Given the description of an element on the screen output the (x, y) to click on. 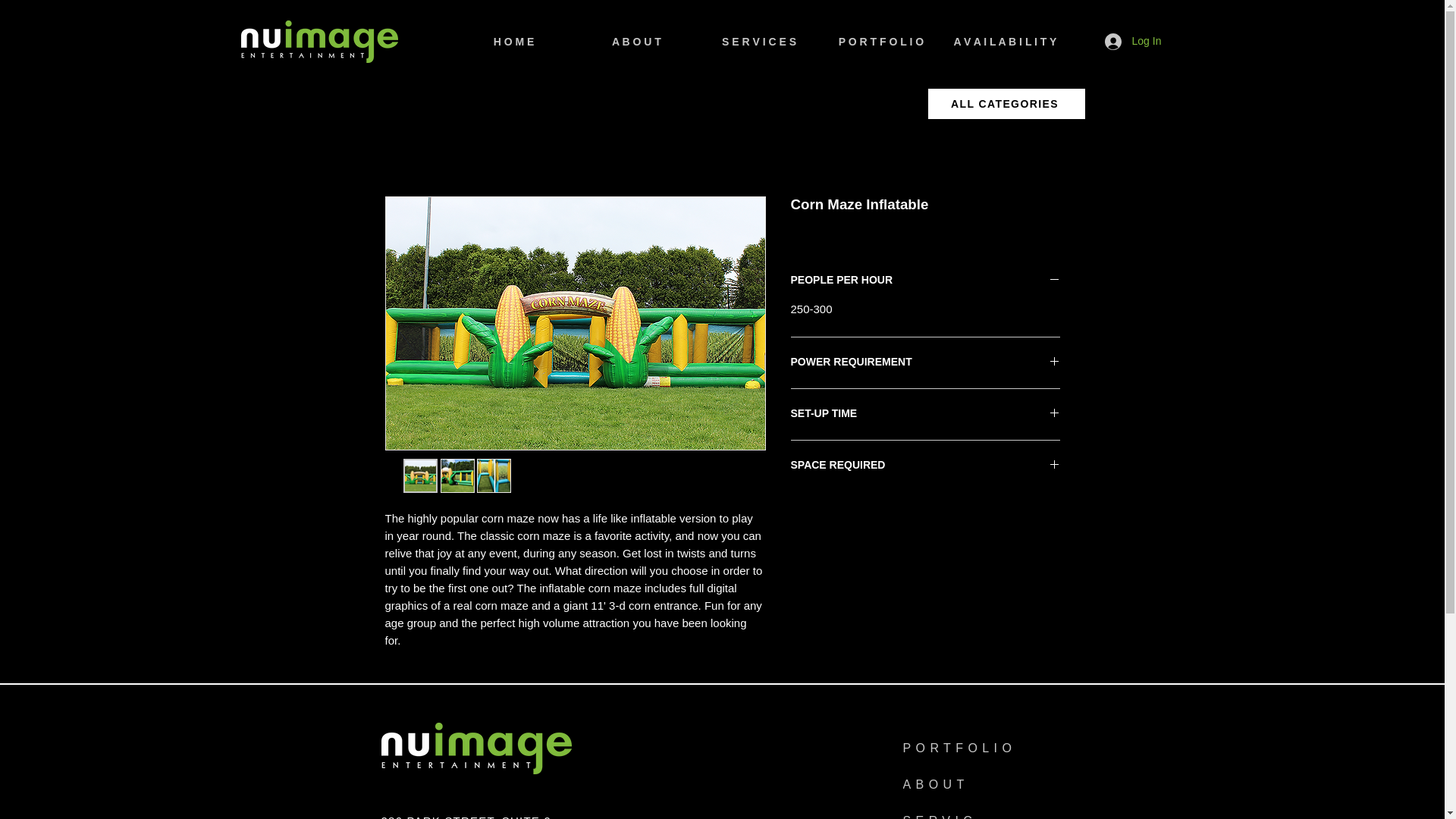
PEOPLE PER HOUR (924, 280)
ALL CATEGORIES (1006, 103)
ABOUT (943, 784)
PORTFOLIO (974, 748)
A B O U T (636, 41)
POWER REQUIREMENT (924, 362)
SET-UP TIME (924, 414)
SPACE REQUIRED (924, 465)
SERVICES (957, 812)
H O M E (513, 41)
A V A I L A B I L I T Y (1003, 41)
Log In (1125, 41)
P O R T F O L I O (881, 41)
